Given the description of an element on the screen output the (x, y) to click on. 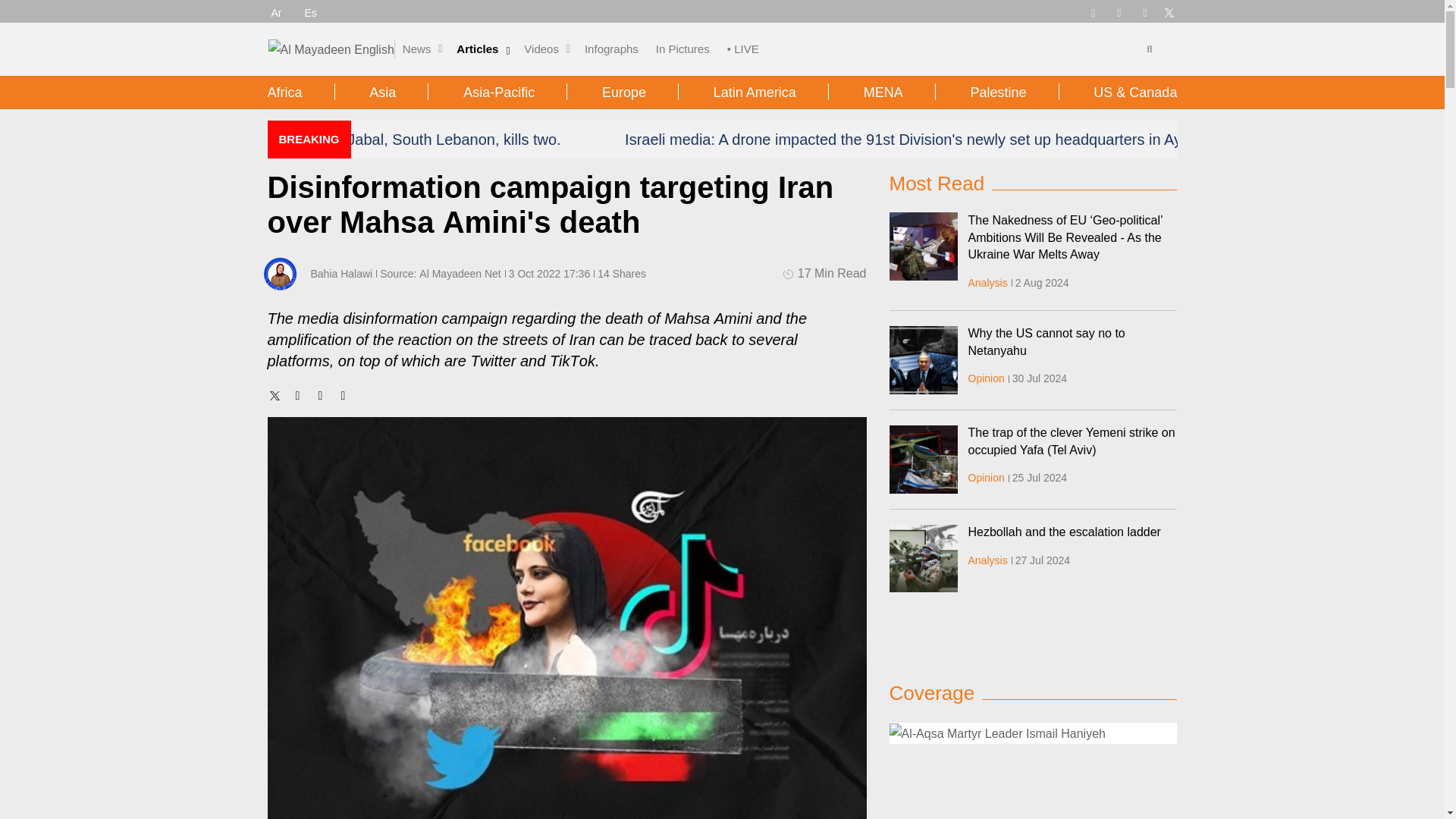
Infographs (612, 48)
Hezbollah and the escalation ladder (922, 558)
Analysis (987, 560)
News (416, 48)
Telegram (1092, 11)
Al-Aqsa Martyr Leader Ismail Haniyeh (996, 733)
In Pictures (683, 48)
Es (310, 12)
Instagram (1144, 11)
Facebook (1118, 11)
Articles (477, 48)
Opinion (986, 378)
Analysis (987, 282)
Videos (541, 48)
Al-Aqsa Martyr Leader Ismail Haniyeh (1032, 732)
